Given the description of an element on the screen output the (x, y) to click on. 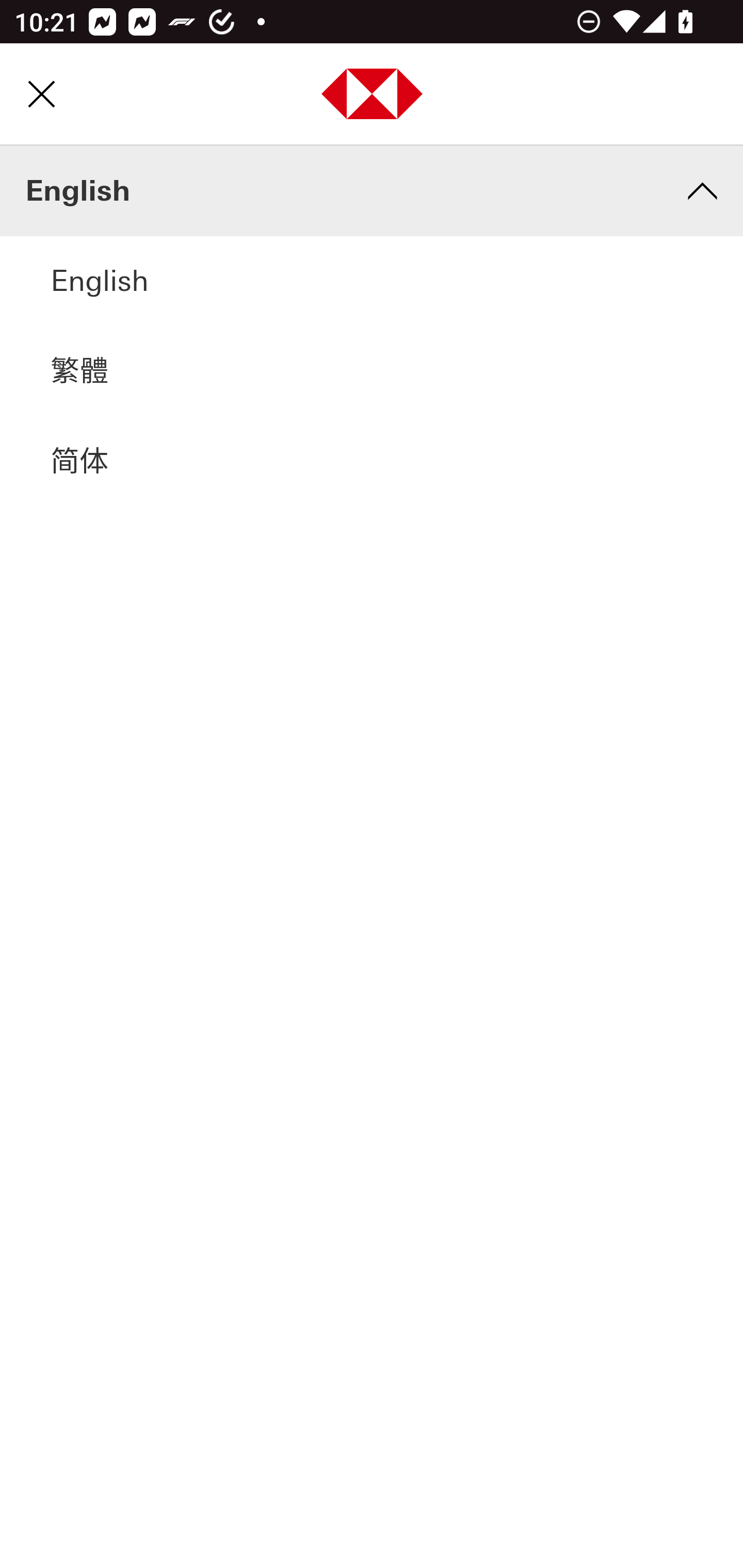
HSBC Hong Kong Bank (372, 96)
Mobile Menu Trigger (41, 94)
List of languages English (371, 191)
Selected English Selected English (371, 282)
繁體 (371, 372)
简体 (371, 463)
